Given the description of an element on the screen output the (x, y) to click on. 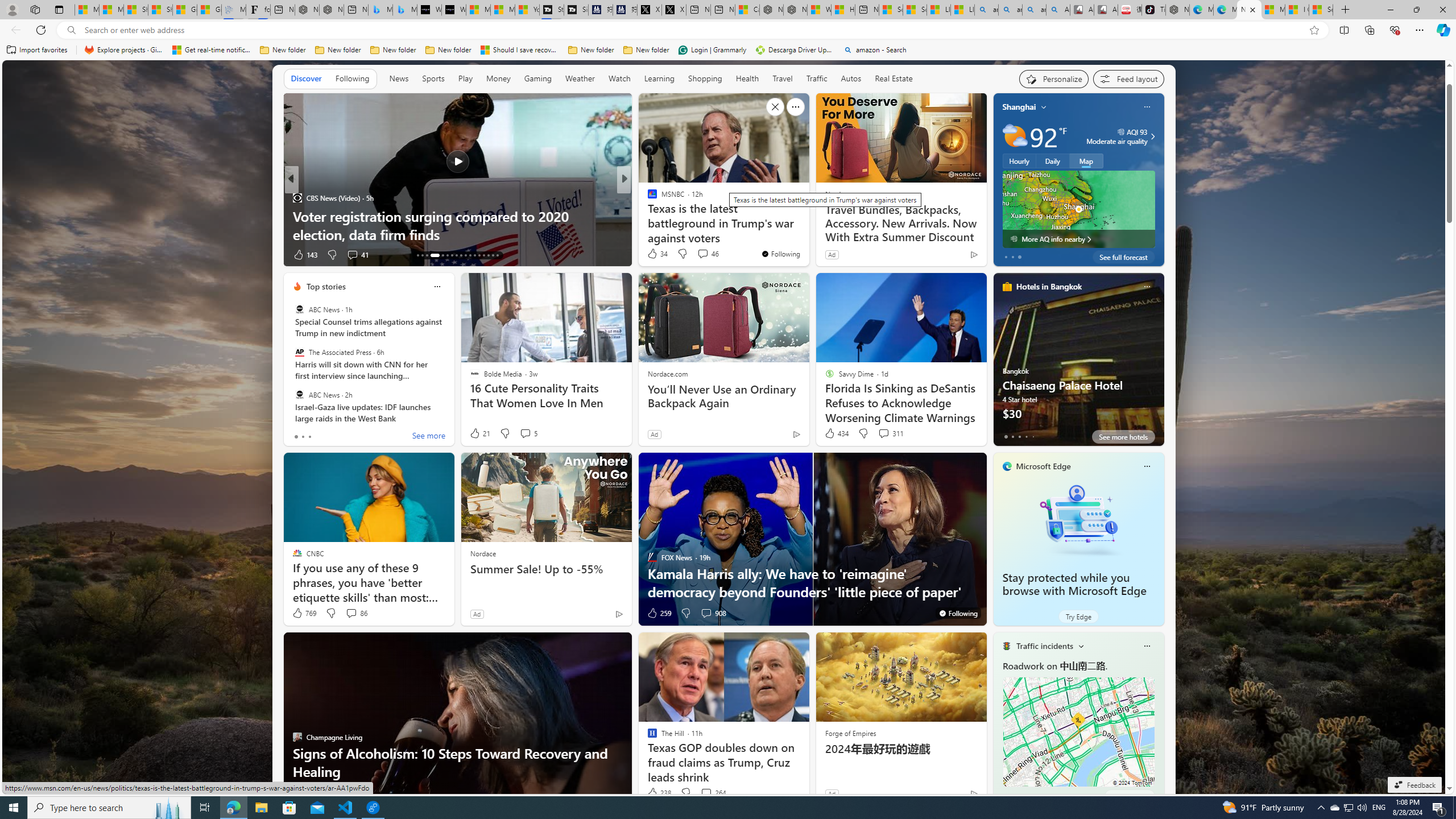
Traffic (816, 79)
AutomationID: tab-14 (422, 255)
Summer Sale! Up to -55% (546, 568)
Partly sunny (1014, 136)
108 Like (654, 254)
View comments 908 Comment (705, 613)
View comments 107 Comment (705, 254)
238 Like (658, 792)
Class: icon-img (1146, 645)
